Given the description of an element on the screen output the (x, y) to click on. 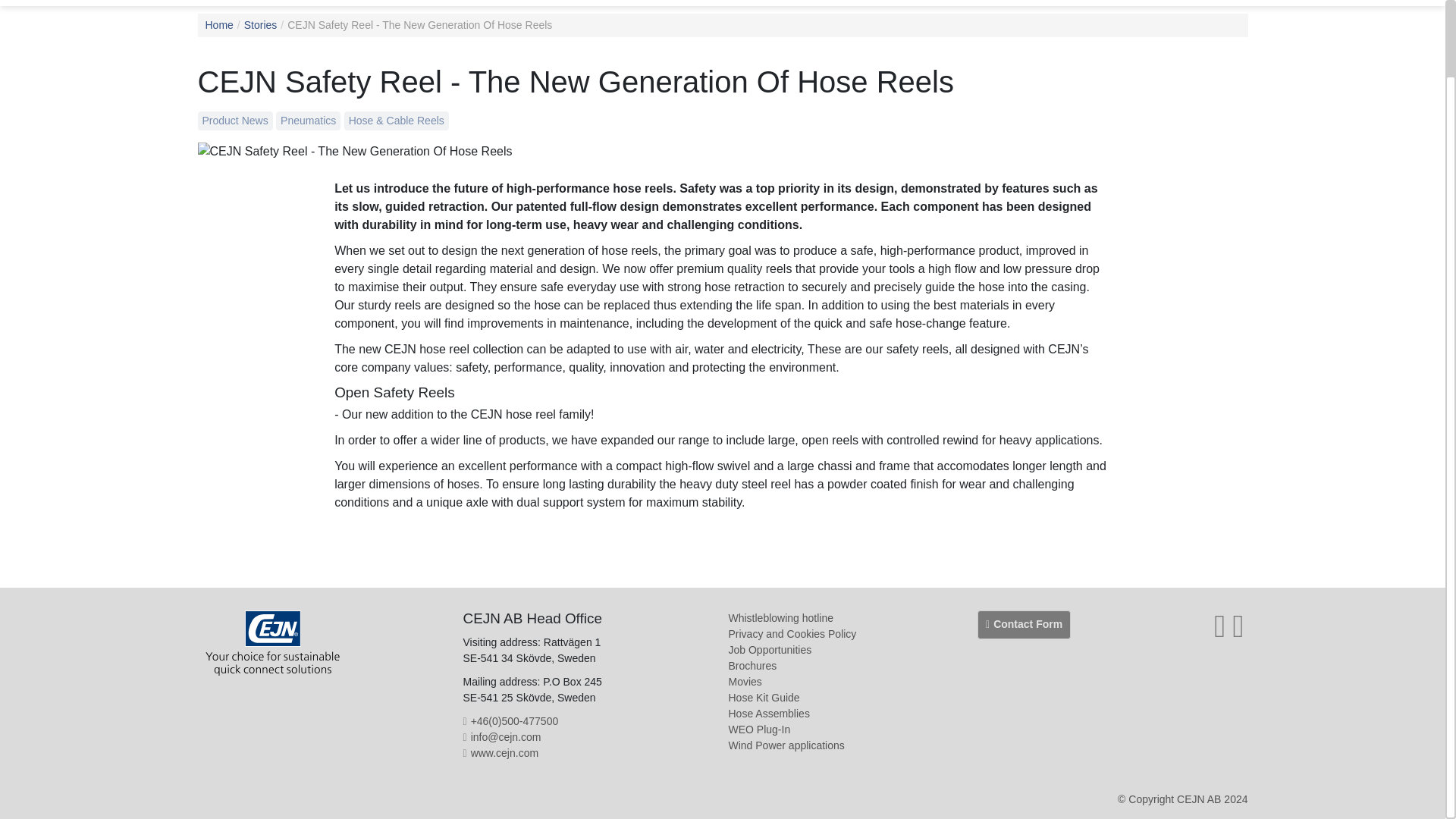
CEJN Safety Reel - The New Generation Of Hose Reels (418, 24)
Stories (261, 24)
Home (218, 24)
